Given the description of an element on the screen output the (x, y) to click on. 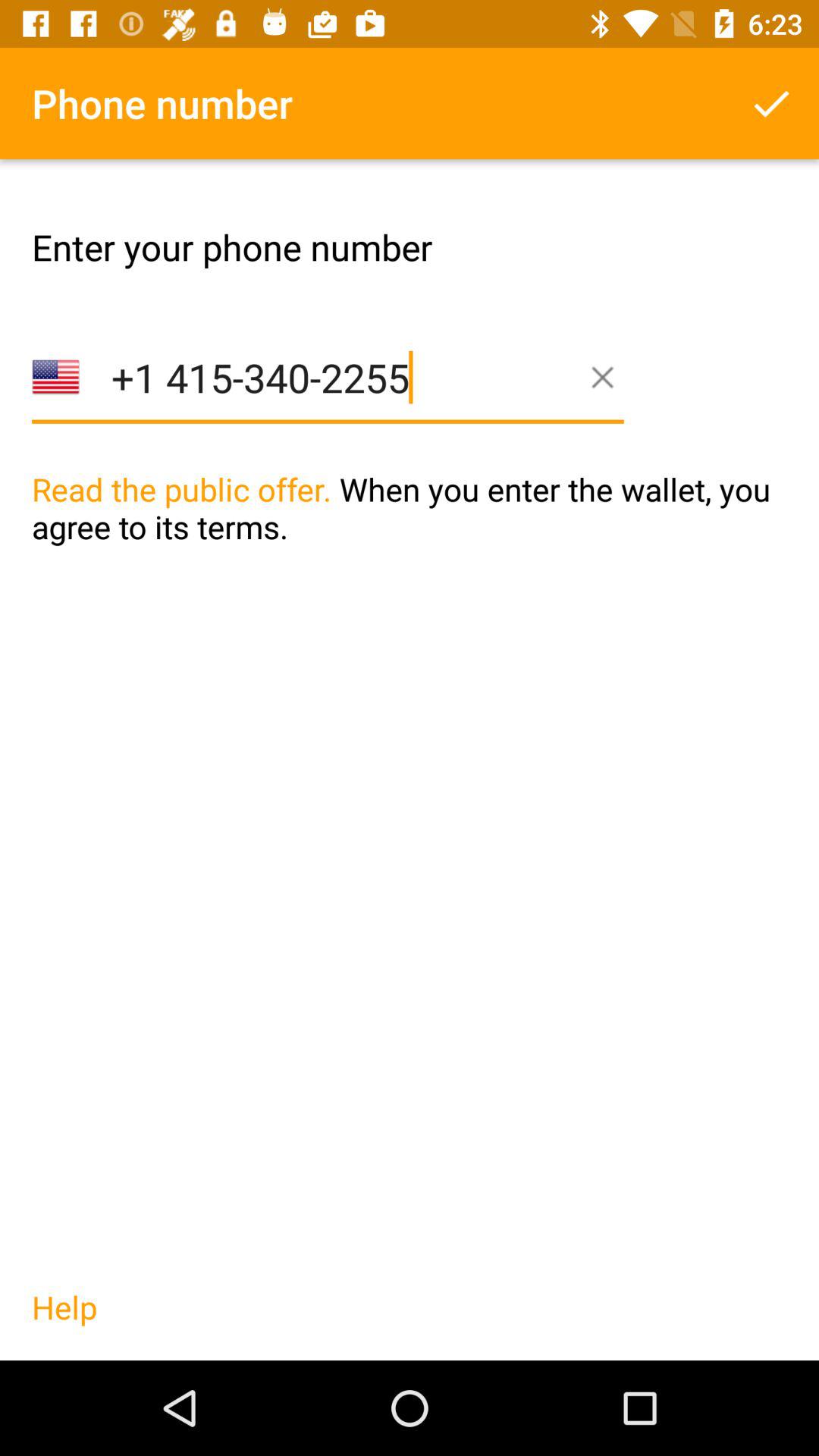
click the icon at the center (409, 539)
